Given the description of an element on the screen output the (x, y) to click on. 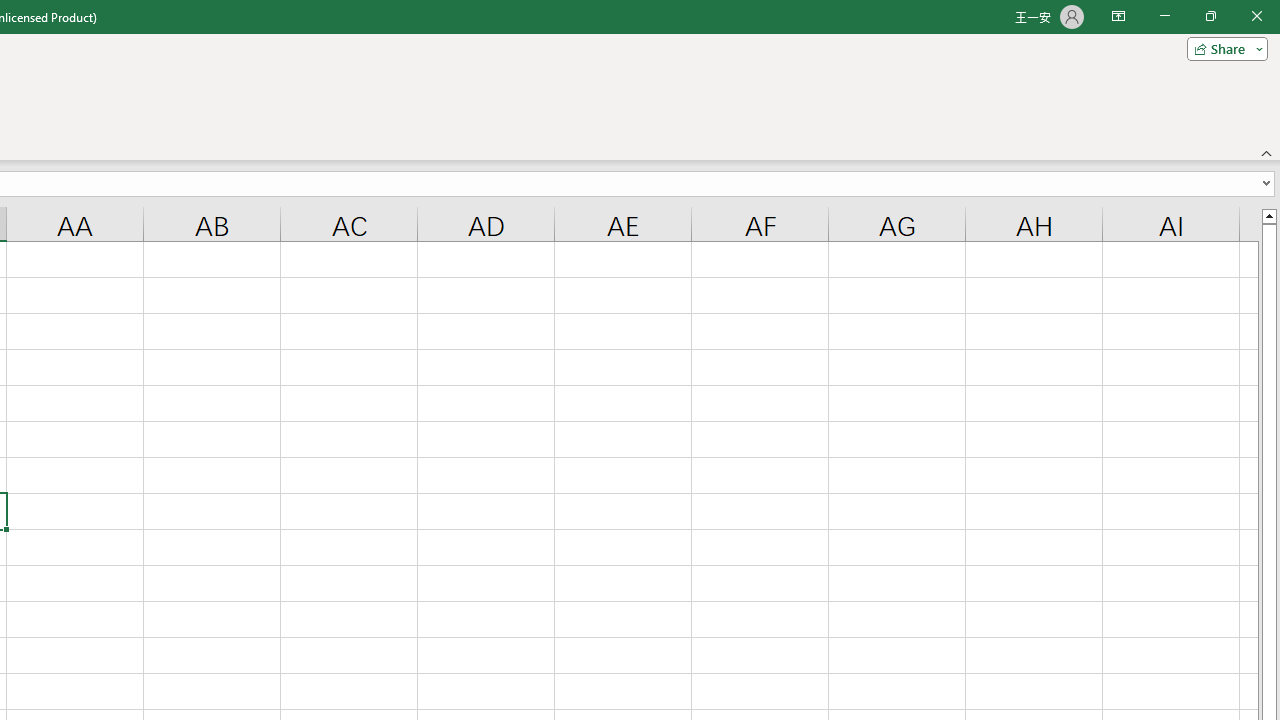
Minimize (1164, 16)
Ribbon Display Options (1118, 16)
Line up (1268, 215)
Restore Down (1210, 16)
Collapse the Ribbon (1267, 152)
Share (1223, 48)
